Given the description of an element on the screen output the (x, y) to click on. 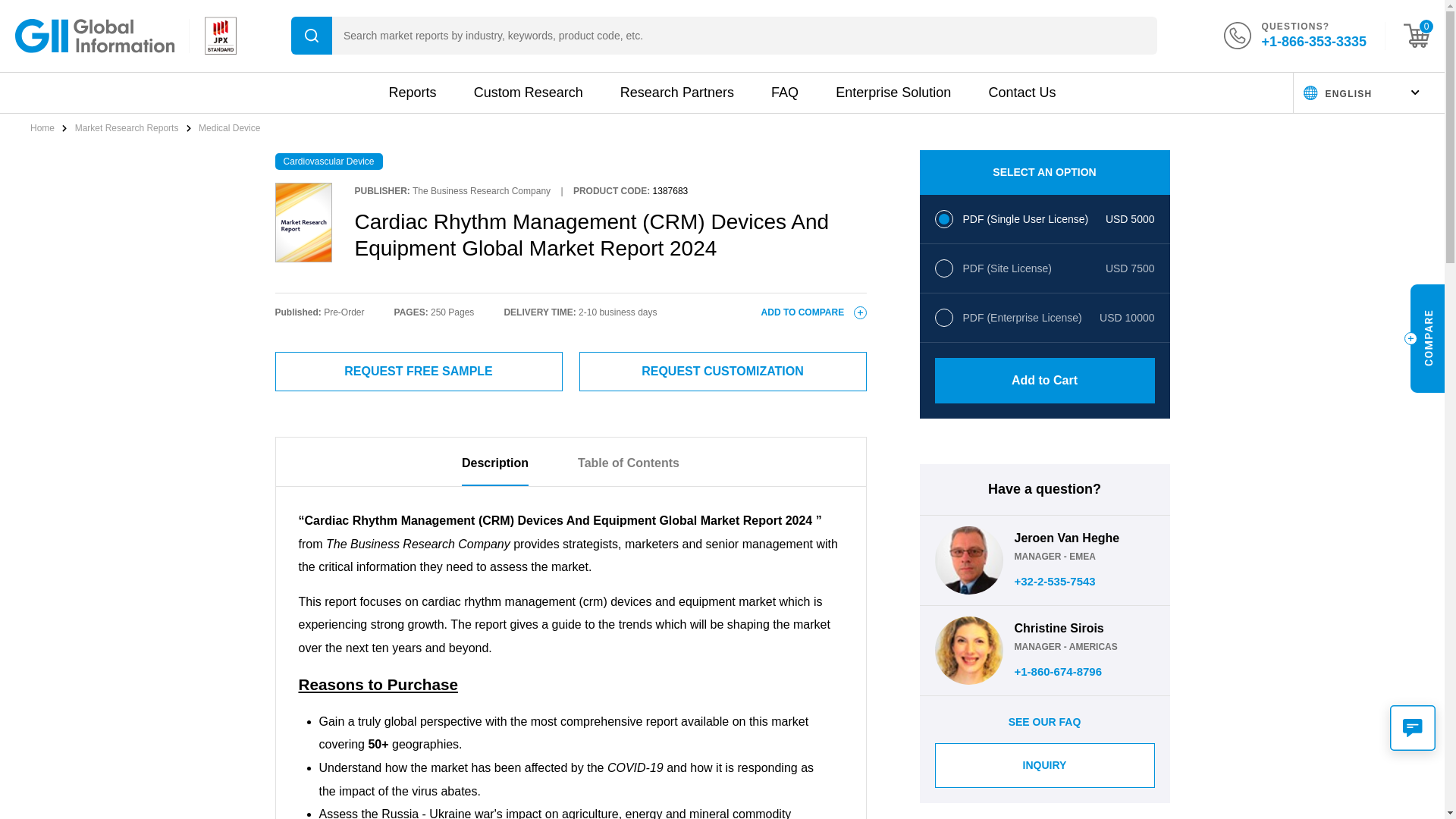
REQUEST FREE SAMPLE (418, 371)
Cardiovascular Device (328, 161)
Reports (411, 92)
0 (1416, 35)
FAQ (784, 92)
REQUEST CUSTOMIZATION (722, 371)
Market Research Reports (127, 127)
Enterprise Solution (892, 92)
Research Partners (676, 92)
Description (494, 470)
ADD TO COMPARE (813, 312)
Table of Contents (628, 470)
Contact Us (1021, 92)
Home (43, 127)
Custom Research (528, 92)
